Given the description of an element on the screen output the (x, y) to click on. 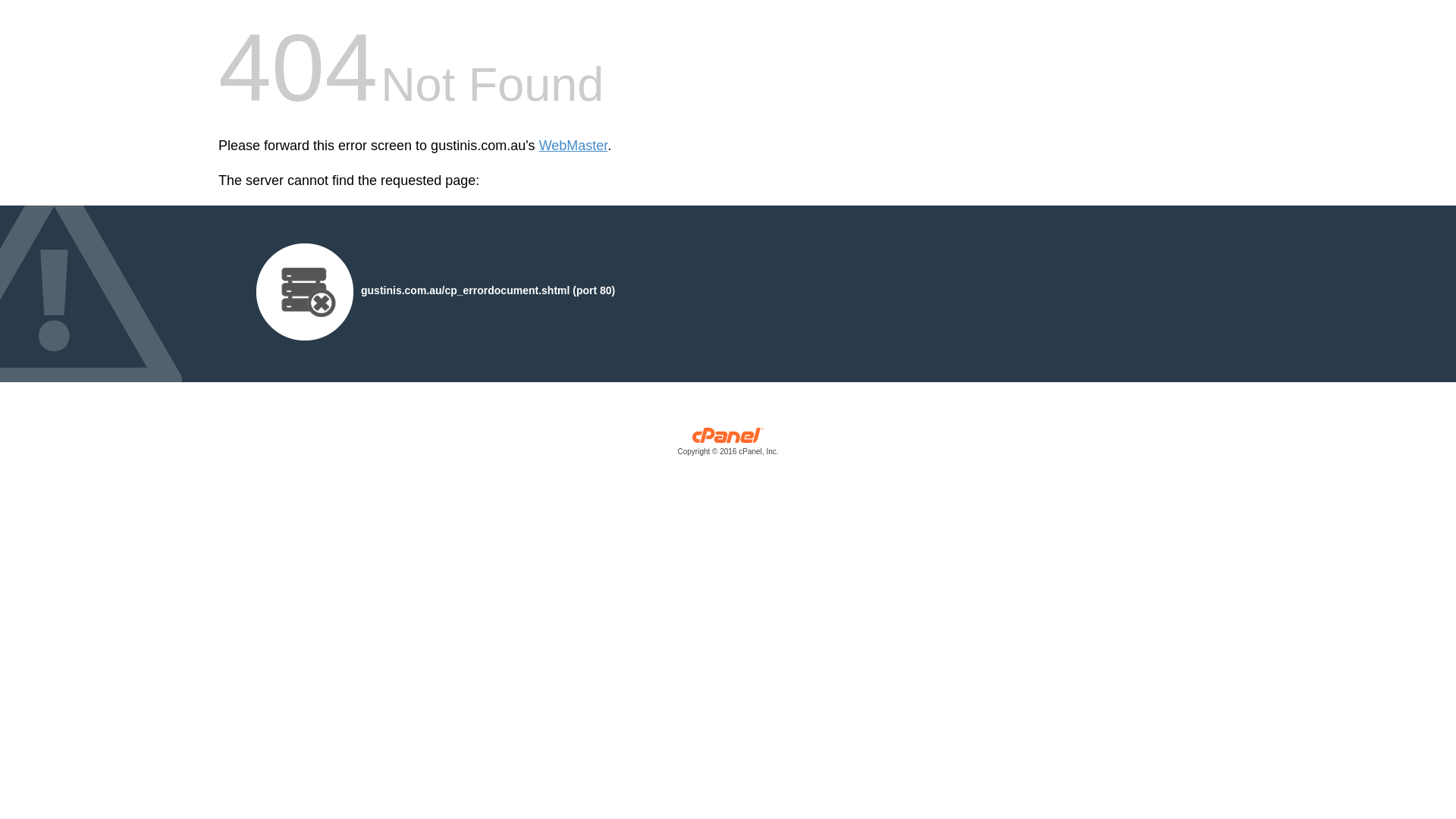
WebMaster Element type: text (573, 145)
